Given the description of an element on the screen output the (x, y) to click on. 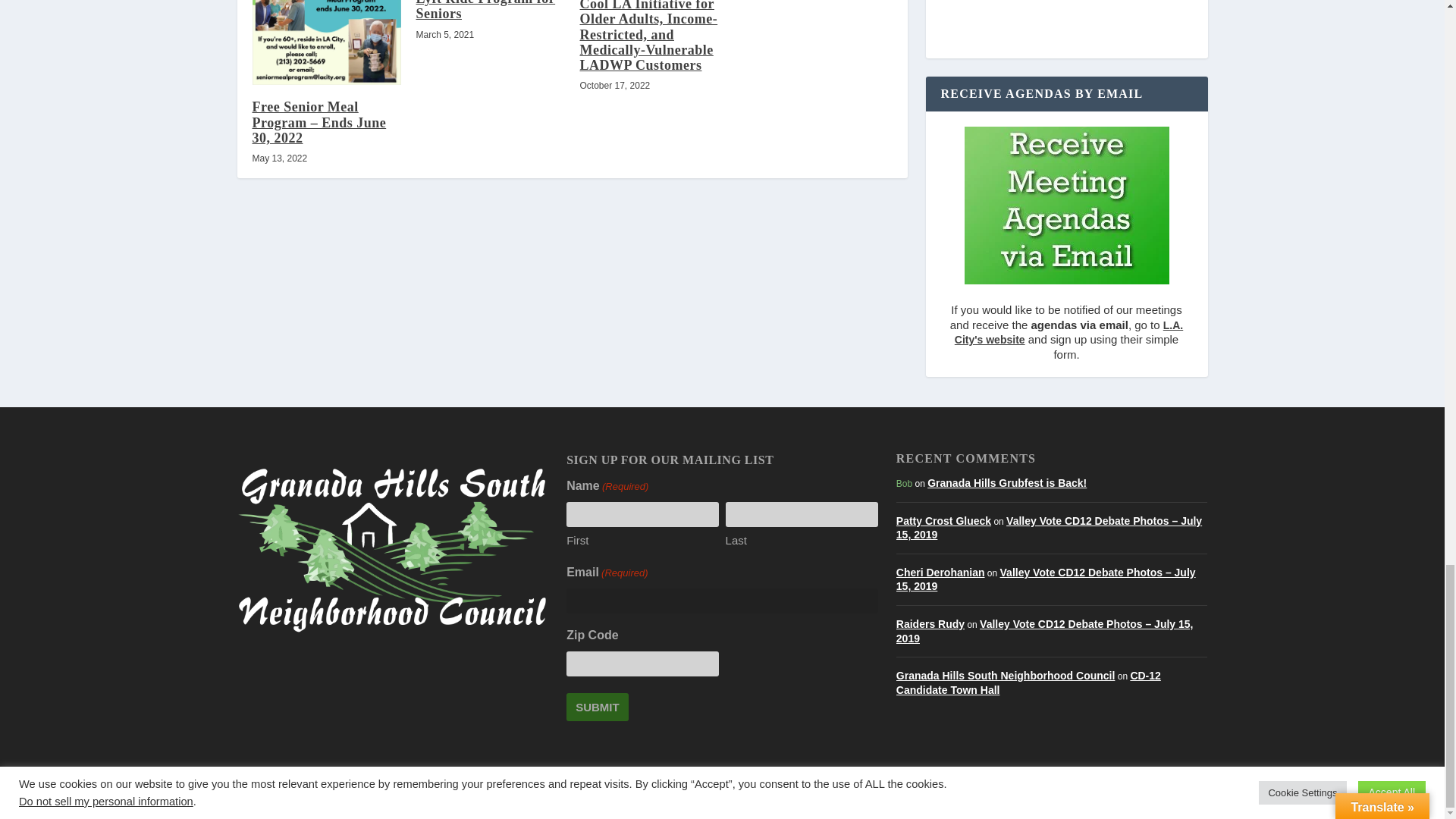
Submit (597, 706)
